Given the description of an element on the screen output the (x, y) to click on. 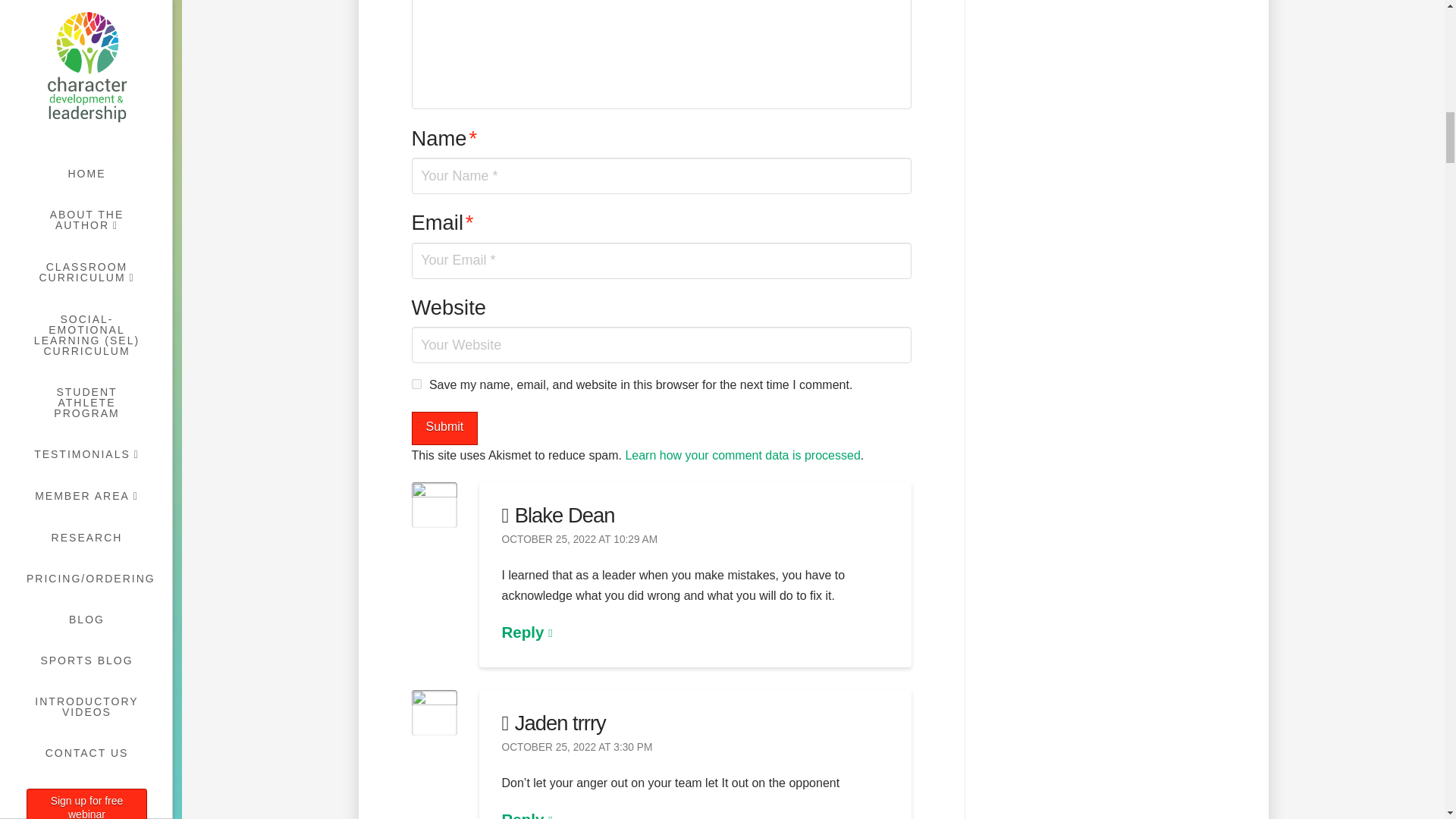
yes (415, 384)
